Given the description of an element on the screen output the (x, y) to click on. 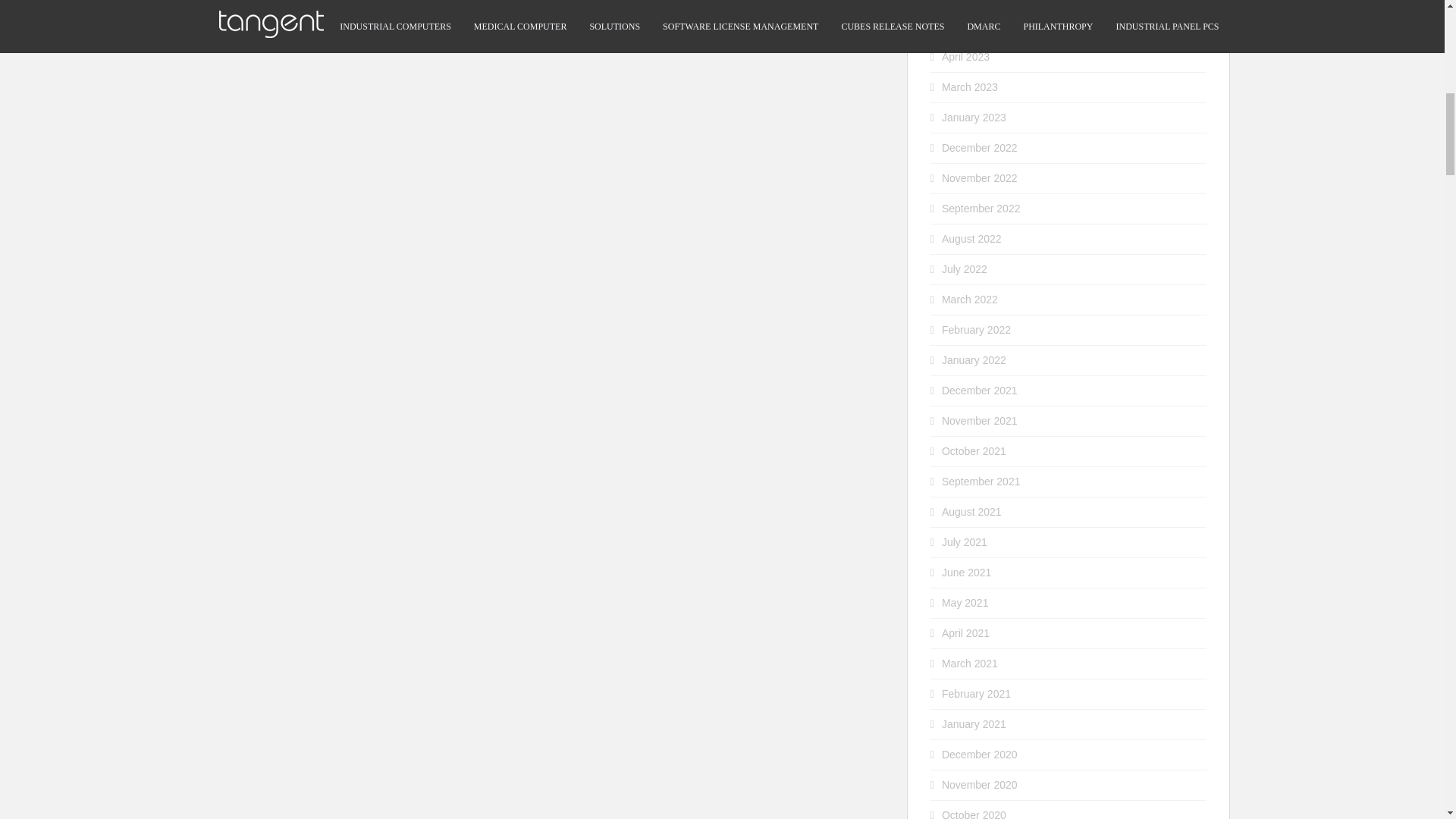
January 2023 (974, 117)
April 2023 (966, 56)
March 2023 (969, 87)
June 2023 (966, 1)
December 2022 (979, 147)
May 2023 (965, 26)
